Given the description of an element on the screen output the (x, y) to click on. 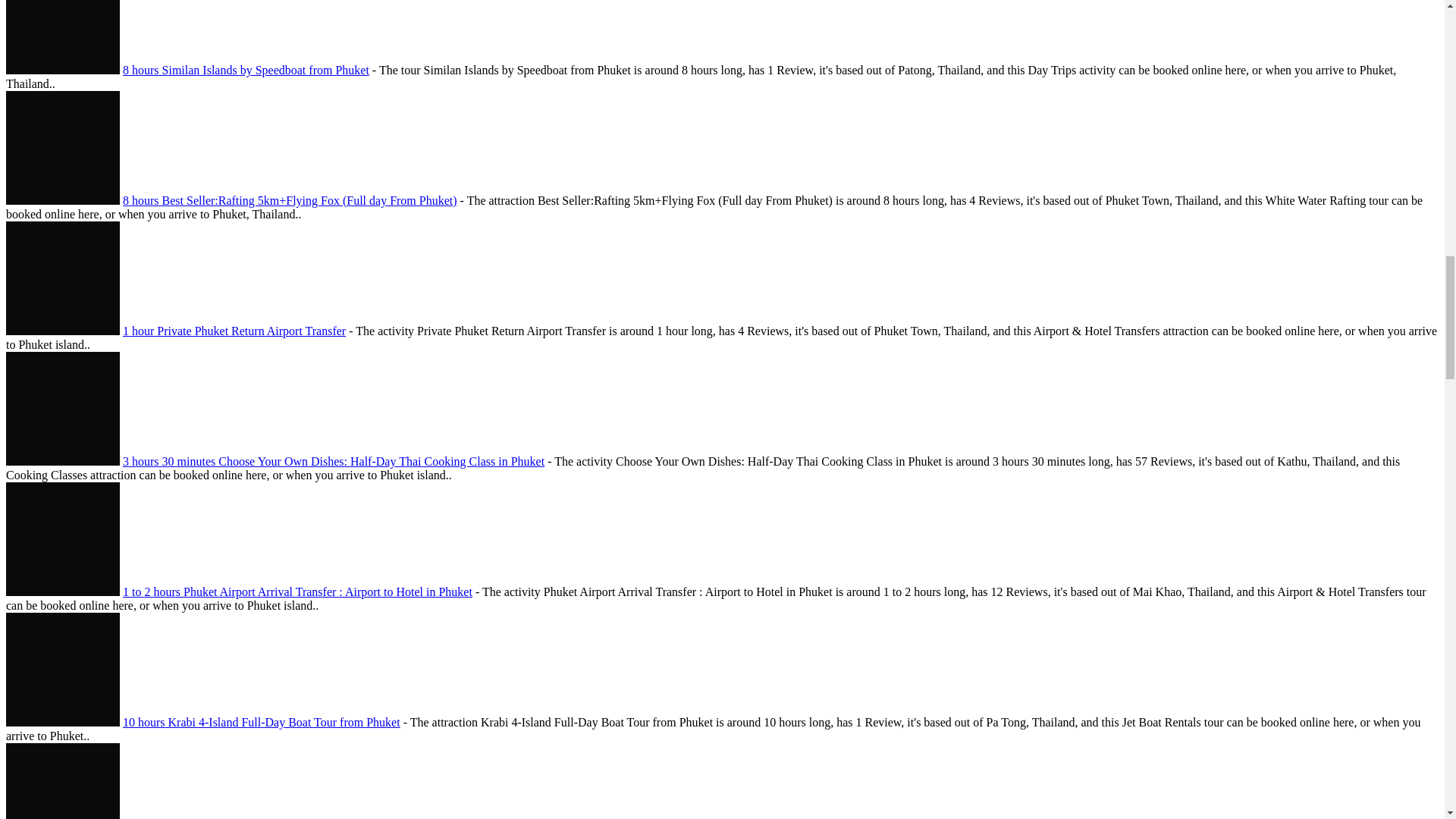
8 hours Similan Islands by Speedboat from Phuket (245, 69)
Similan Islands by Speedboat from Phuket - Day Trips (62, 37)
1 hour Private Phuket Return Airport Transfer (234, 330)
10 hours Krabi 4-Island Full-Day Boat Tour from Phuket (261, 721)
